Given the description of an element on the screen output the (x, y) to click on. 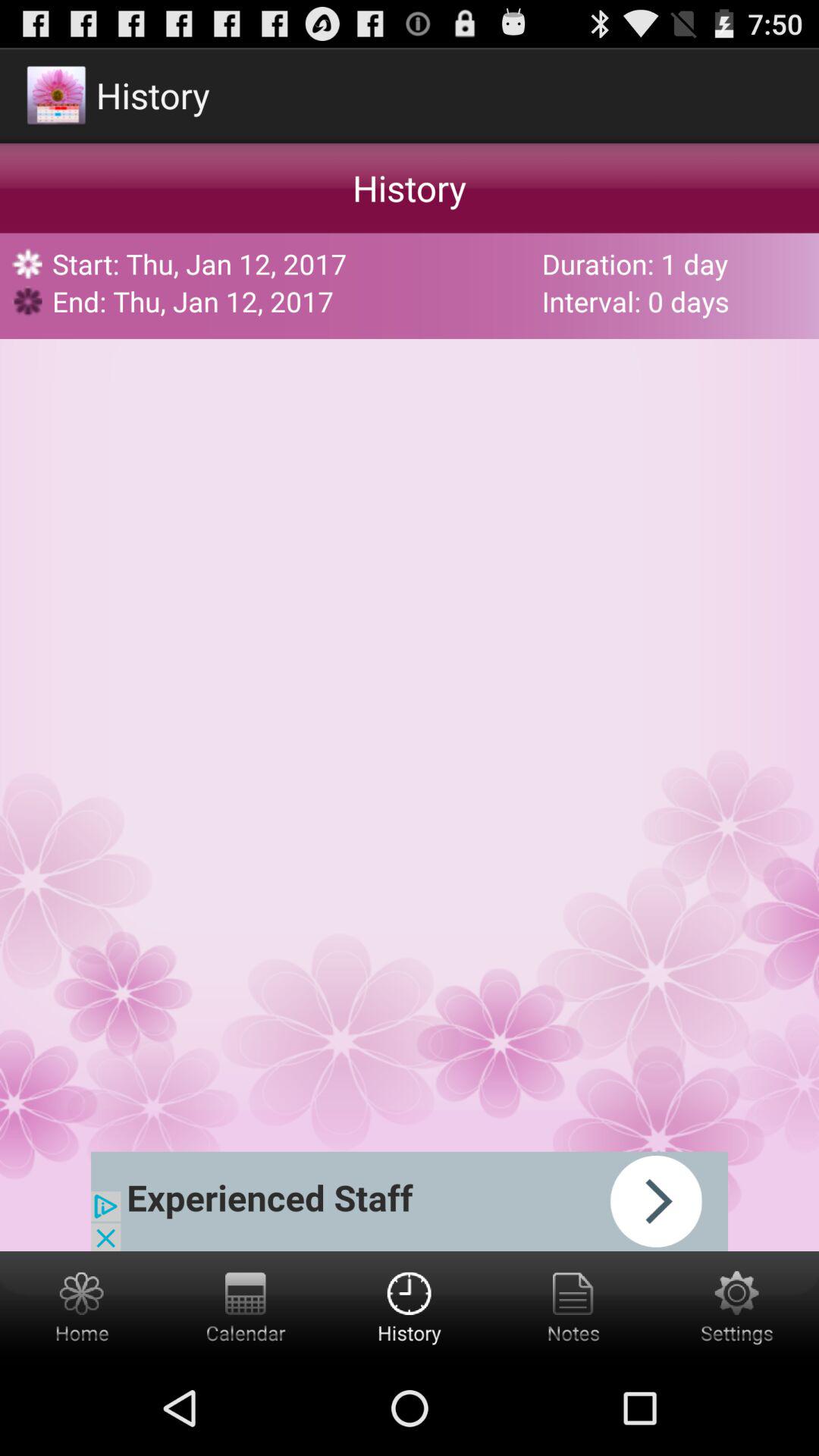
get the history (409, 1305)
